Given the description of an element on the screen output the (x, y) to click on. 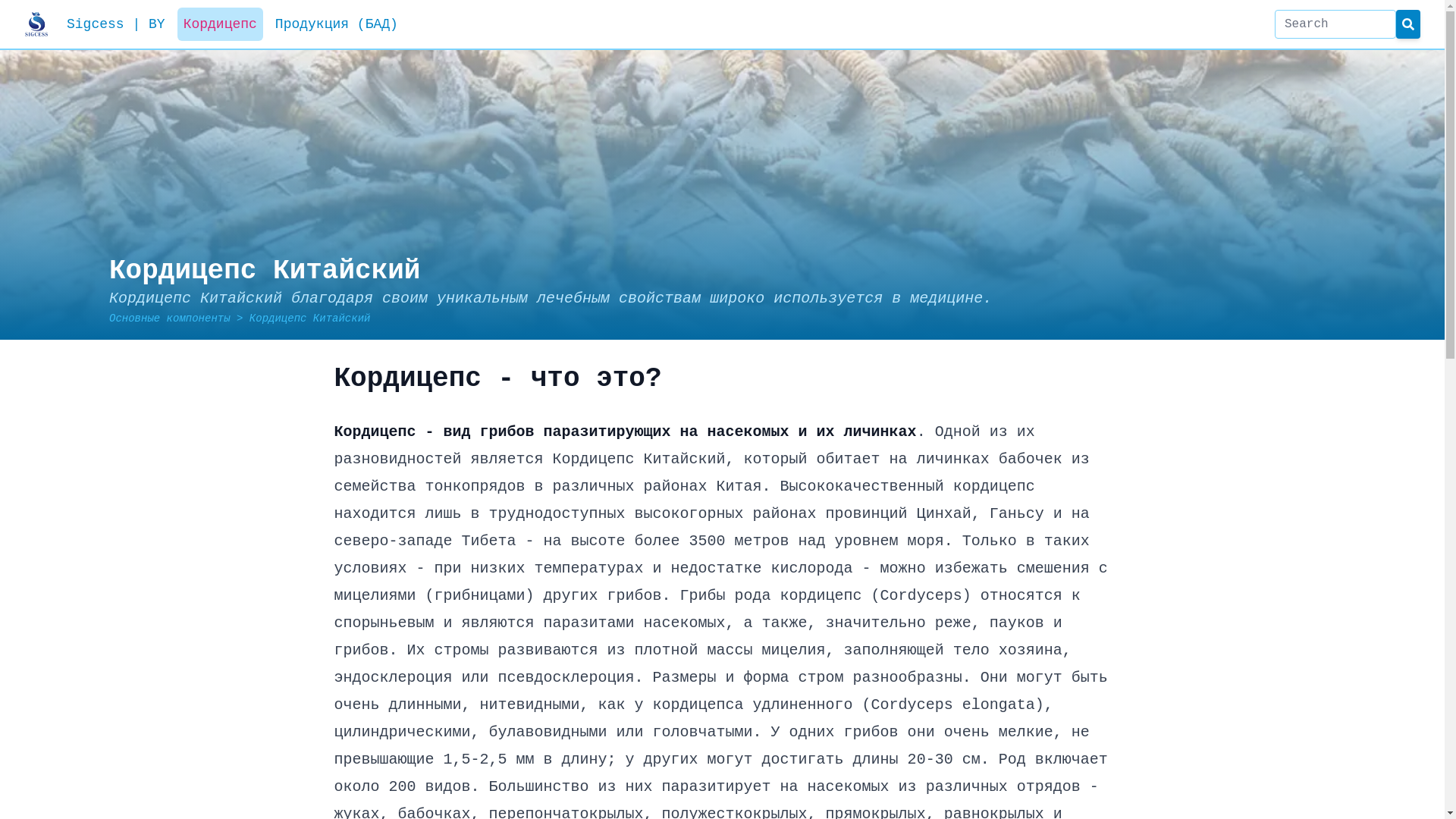
Sigcess | BY Element type: text (115, 23)
